Given the description of an element on the screen output the (x, y) to click on. 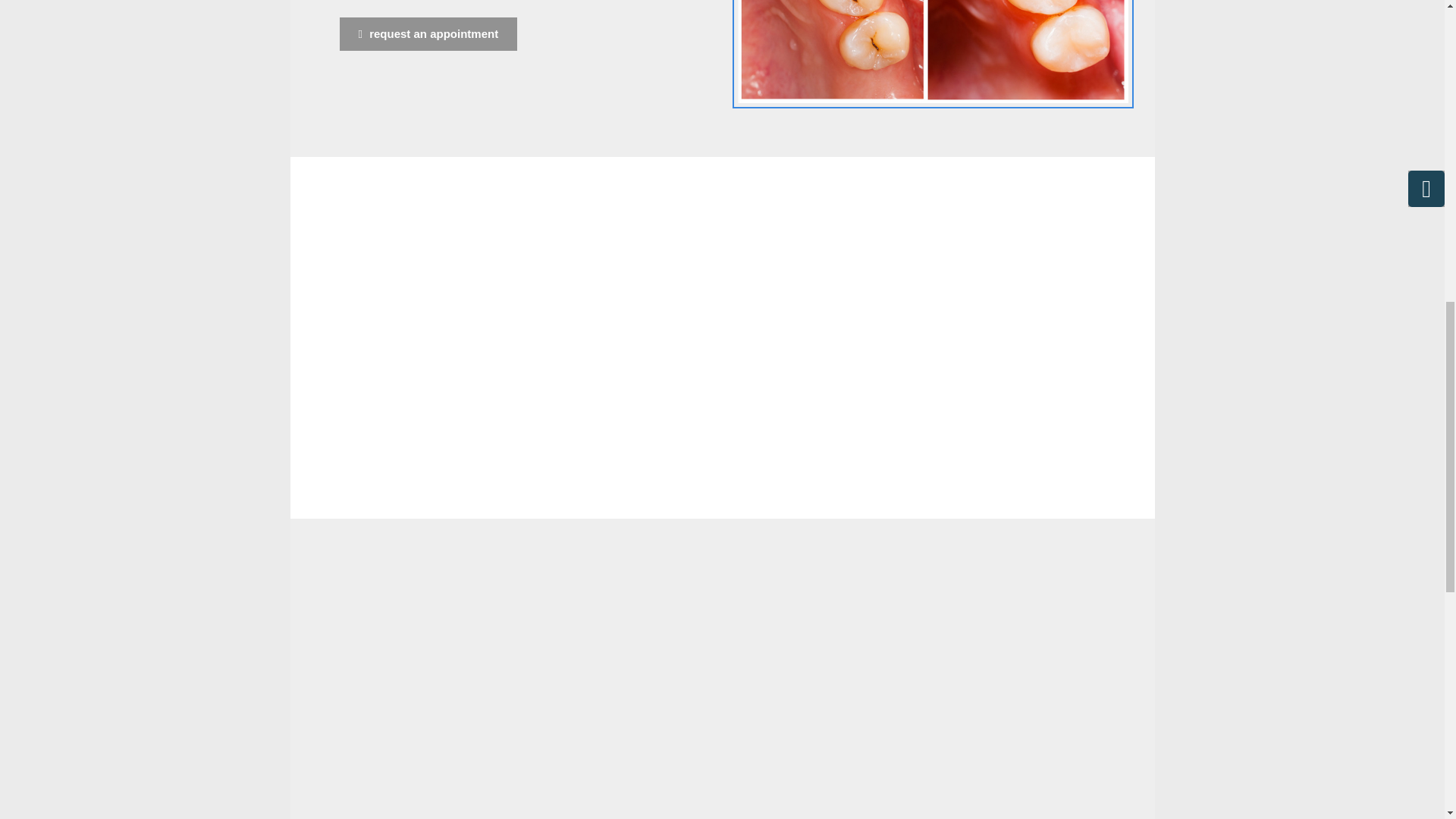
request an appointment (428, 34)
